Given the description of an element on the screen output the (x, y) to click on. 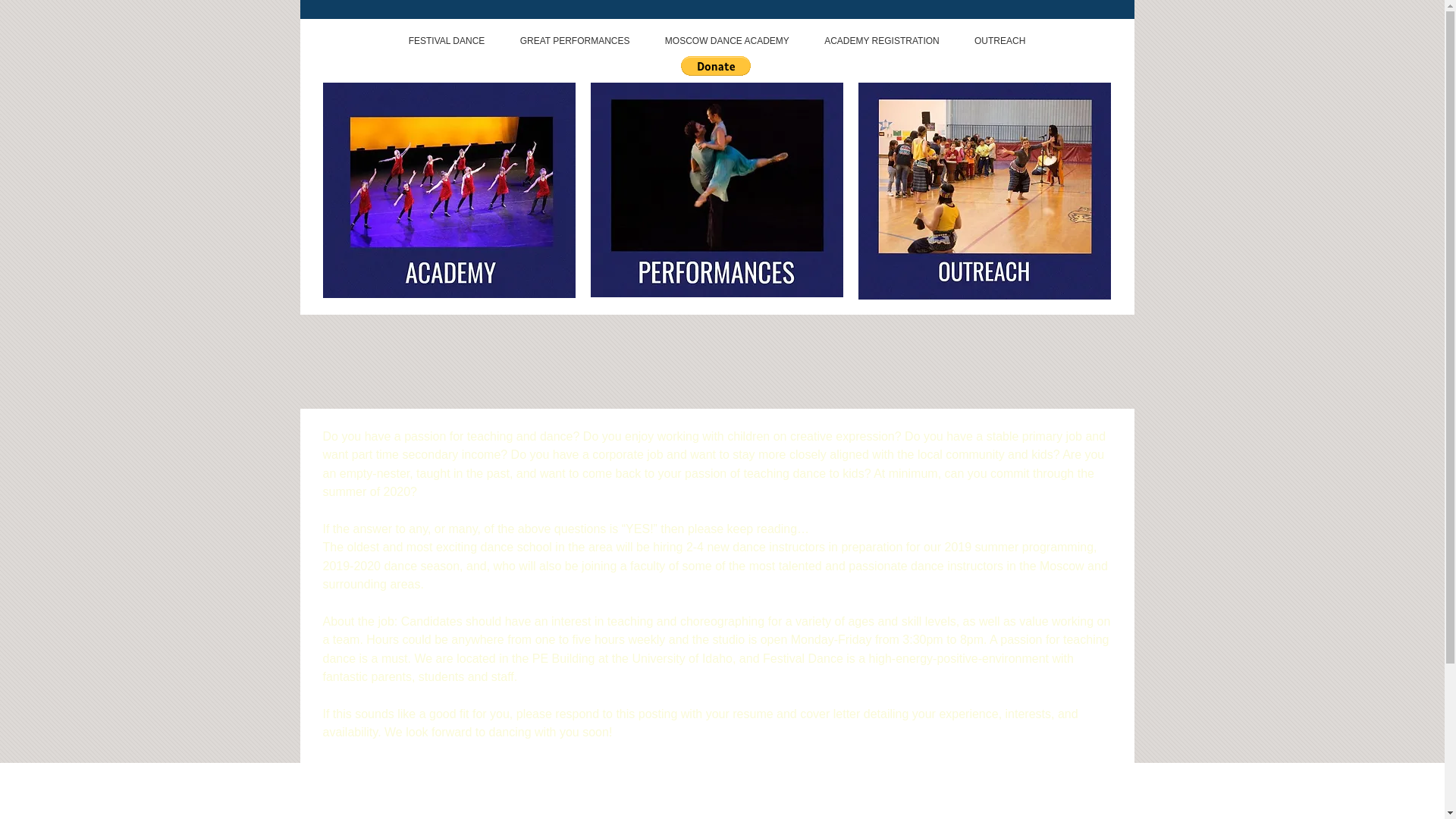
FESTIVAL DANCE (446, 41)
OUTREACH (999, 41)
GREAT PERFORMANCES (574, 41)
ACADEMY REGISTRATION (881, 41)
MOSCOW DANCE ACADEMY (726, 41)
